Given the description of an element on the screen output the (x, y) to click on. 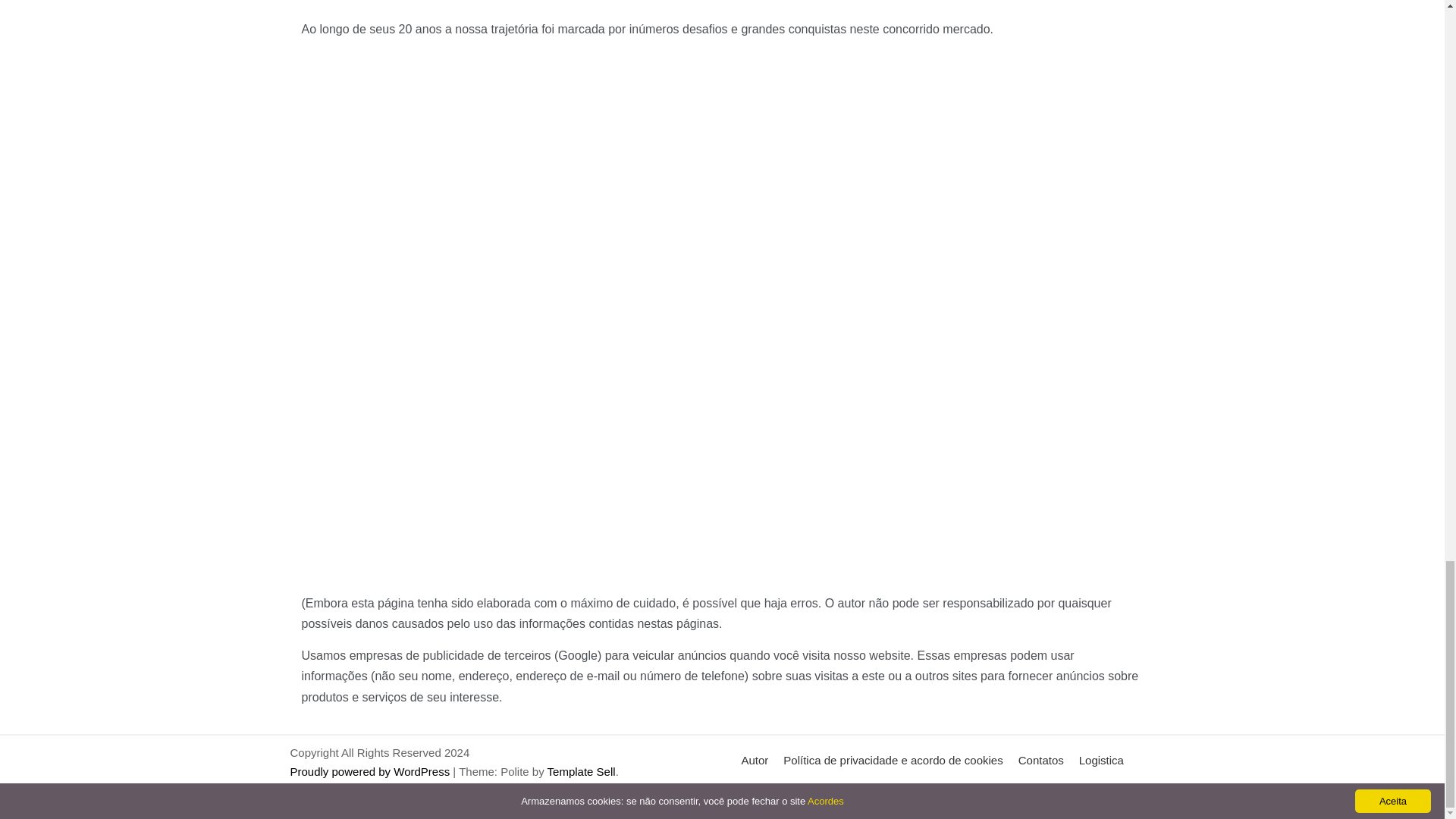
Template Sell (581, 771)
Problemas (816, 794)
Autor (754, 759)
llantas (757, 794)
Proudly powered by WordPress (370, 771)
Logistica (1101, 759)
Contatos (1040, 759)
